Given the description of an element on the screen output the (x, y) to click on. 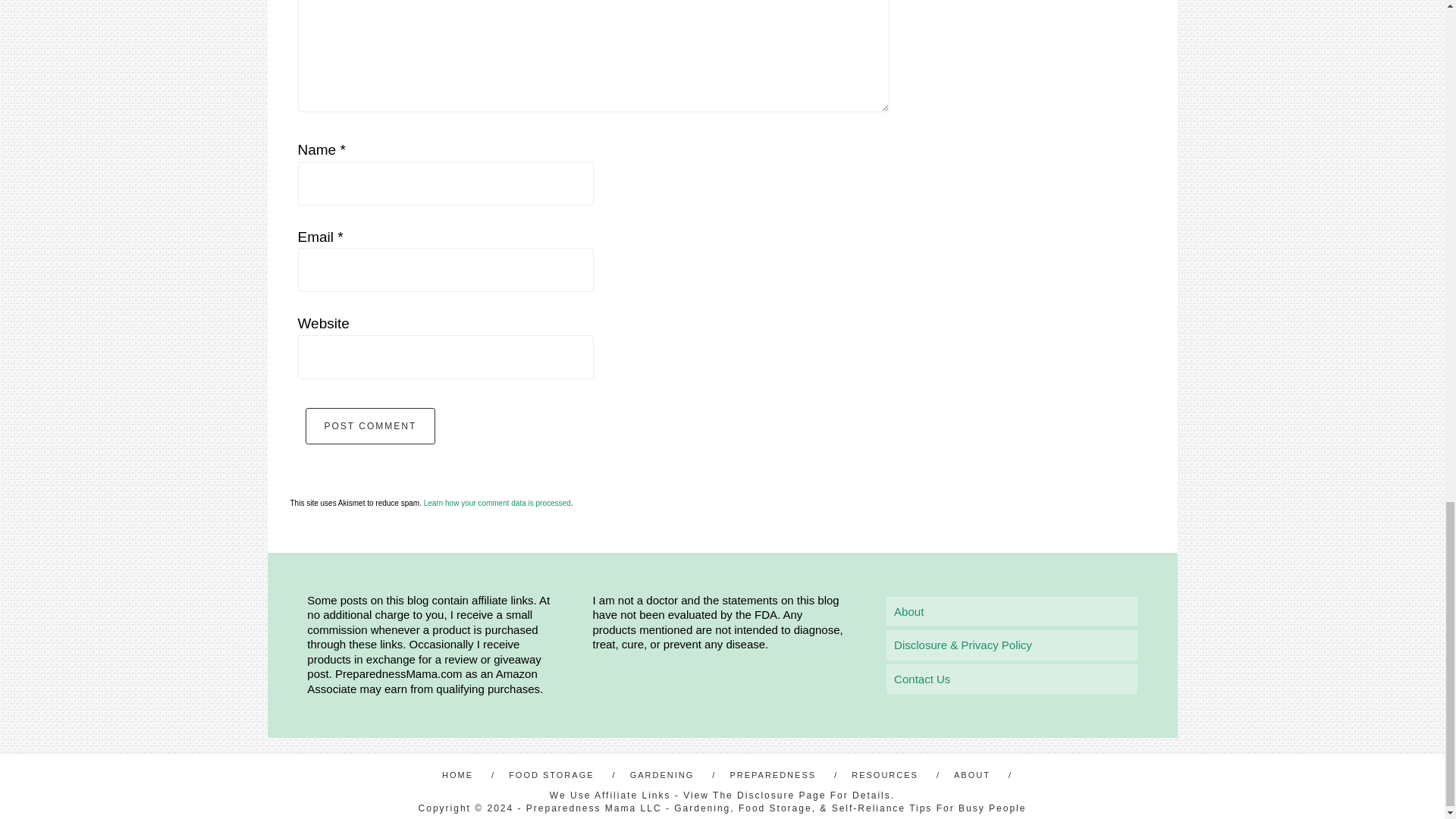
Post Comment (369, 425)
Preparedness Planning for Busy Moms (778, 775)
About PreparednessMama (908, 611)
